Given the description of an element on the screen output the (x, y) to click on. 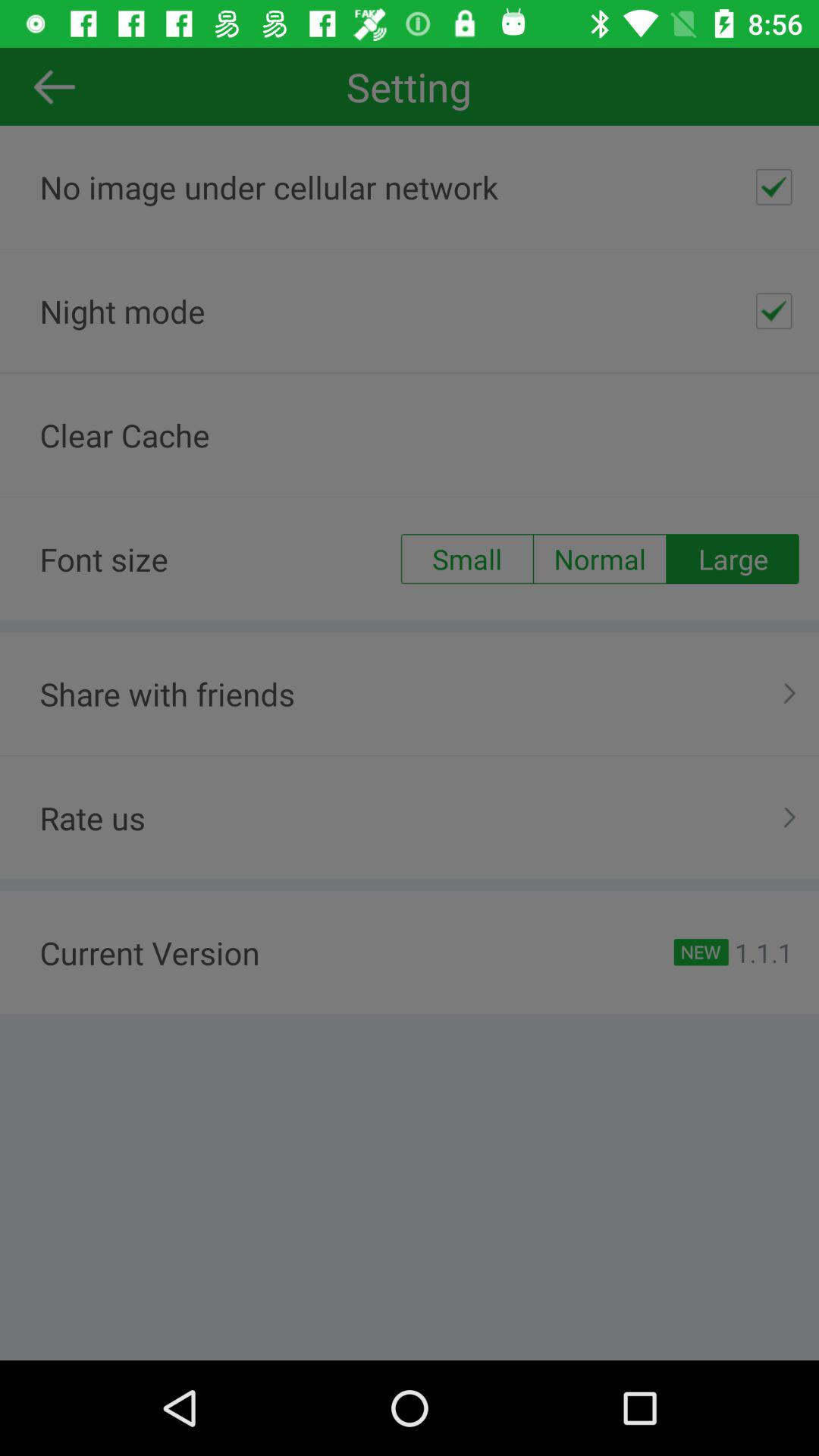
open the icon next to the night mode icon (774, 311)
